Given the description of an element on the screen output the (x, y) to click on. 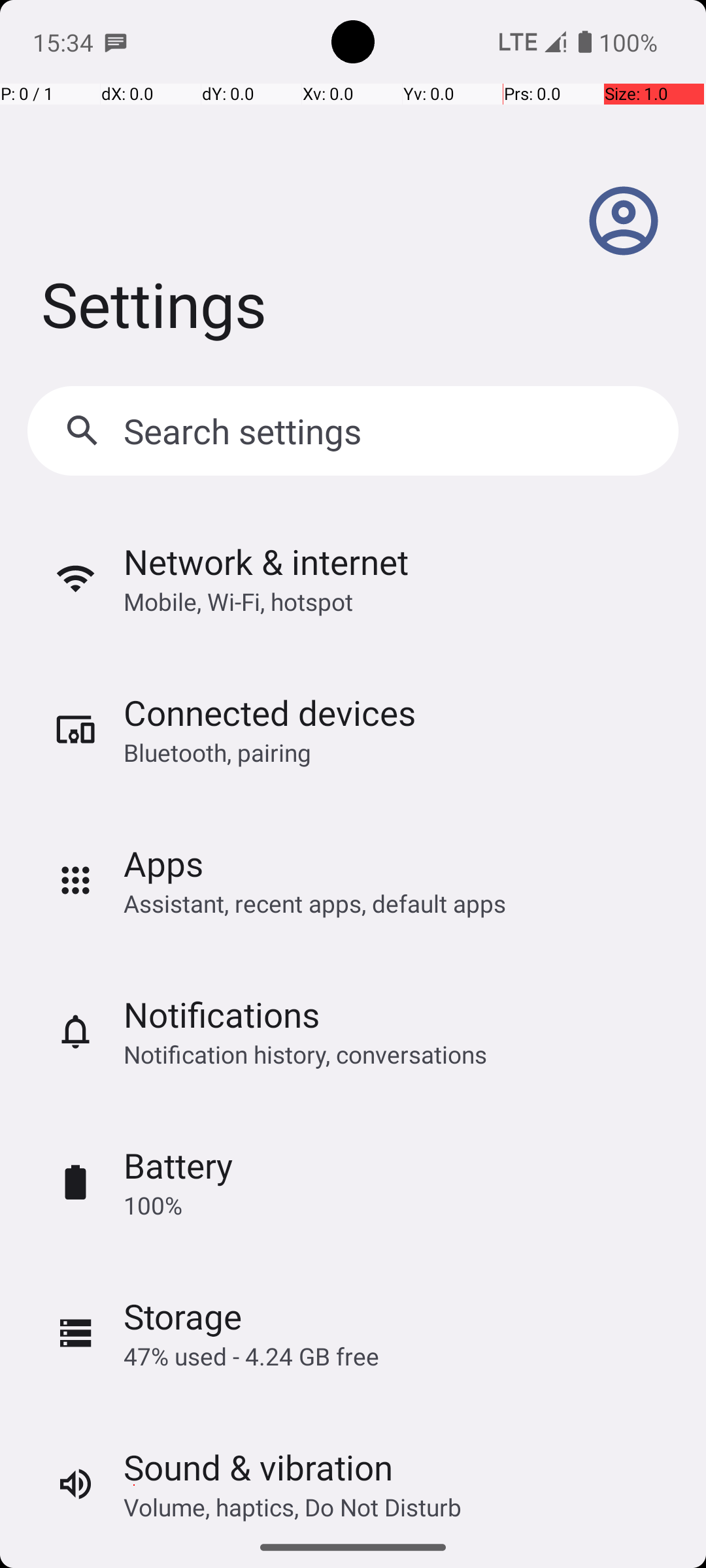
47% used - 4.24 GB free Element type: android.widget.TextView (251, 1355)
